Given the description of an element on the screen output the (x, y) to click on. 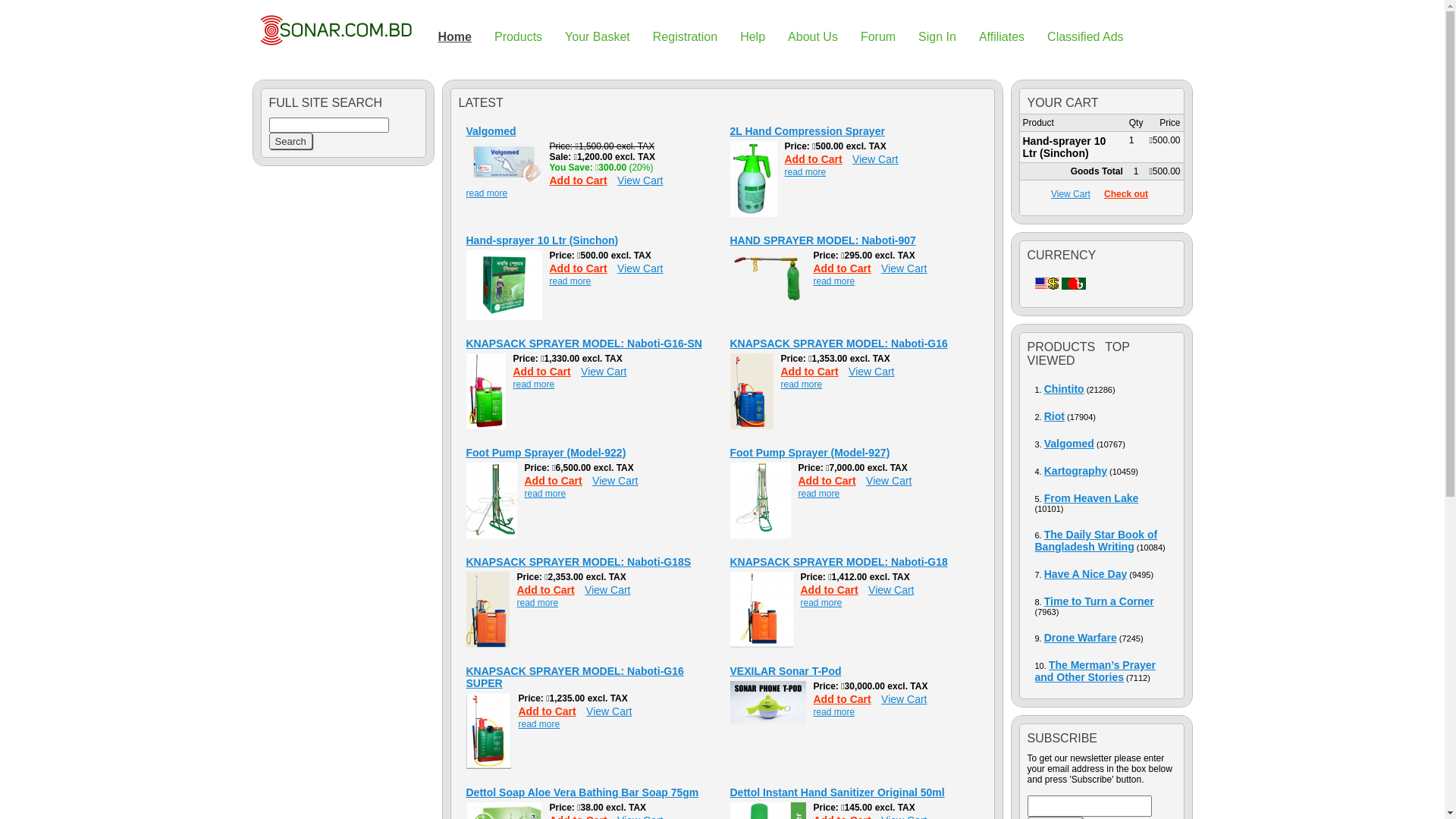
Time to Turn a Corner Element type: text (1099, 601)
View Cart Element type: text (907, 699)
read more Element type: text (573, 281)
Add to Cart Element type: text (829, 480)
read more Element type: text (541, 602)
Kartography Element type: text (1075, 470)
View Cart Element type: text (643, 180)
KNAPSACK SPRAYER MODEL: Naboti-G18 Element type: text (838, 561)
Bangladeshi Taka Element type: hover (1073, 283)
Dettol Instant Hand Sanitizer Original 50ml Element type: text (836, 792)
View Cart Element type: text (894, 589)
Drone Warfare Element type: text (1080, 637)
read more Element type: text (536, 384)
Hand-sprayer 10 Ltr (Sinchon) Element type: text (541, 240)
Sign In Element type: text (936, 37)
View Cart Element type: text (907, 268)
View Cart Element type: text (618, 480)
Add to Cart Element type: text (833, 589)
read more Element type: text (808, 171)
Have A Nice Day Element type: text (1085, 573)
View Cart Element type: text (612, 711)
read more Element type: text (489, 193)
Home Page Element type: hover (335, 30)
Valgomed Element type: text (1069, 443)
Foot Pump Sprayer (Model-922) Element type: text (545, 452)
View Cart Element type: text (874, 371)
read more Element type: text (825, 602)
Add to Cart Element type: text (544, 371)
read more Element type: text (542, 723)
American Dollar Element type: hover (1046, 283)
KNAPSACK SPRAYER MODEL: 616 SUPER Element type: hover (487, 765)
Add to Cart Element type: text (845, 268)
read more Element type: text (549, 493)
Add to Cart Element type: text (556, 480)
Foot Pump Sprayer (Model-927) Element type: text (809, 452)
Dettol Soap Aloe Vera Bathing Bar Soap 75gm Element type: text (581, 792)
View Cart Element type: text (1070, 193)
View Cart Element type: text (610, 589)
Riot Element type: text (1054, 416)
Add to Cart Element type: text (549, 589)
Help Element type: text (752, 37)
BUNIONS ARE NOW TREATABLE - VISIBLE RESULTS IN JUST A MONTH Element type: hover (503, 180)
read more Element type: text (837, 711)
Valgomed Element type: text (490, 131)
KNAPSACK SPRAYER MODEL: Naboti-G16-SN Element type: text (583, 343)
The Daily Star Book of Bangladesh Writing Element type: text (1095, 540)
Chintito Element type: text (1064, 388)
View Cart Element type: text (606, 371)
Your Basket Element type: text (597, 37)
read more Element type: text (805, 384)
About Us Element type: text (812, 37)
From Heaven Lake Element type: text (1091, 498)
View Cart Element type: text (892, 480)
Add to Cart Element type: text (581, 180)
Check out Element type: text (1125, 193)
Search Element type: text (289, 140)
Products Element type: text (518, 37)
Forum Element type: text (877, 37)
View Cart Element type: text (643, 268)
KNAPSACK SPRAYER MODEL: Naboti-G16 Element type: text (838, 343)
HAND SPRAYER MODEL: Naboti-907 Element type: text (822, 240)
VEXILAR Sonar T-Pod Element type: text (784, 671)
HAND SPRAYER MODEL: Naboti-907  Element type: hover (767, 299)
Add to Cart Element type: text (550, 711)
Home Element type: text (454, 37)
Add to Cart Element type: text (813, 371)
2L Hand Compression Sprayer Element type: text (806, 131)
Add to Cart Element type: text (581, 268)
KNAPSACK SPRAYER MODEL: Naboti-G16 Element type: hover (485, 425)
read more Element type: text (822, 493)
KNAPSACK SPRAYER MODEL: Naboti-G18S Element type: text (577, 561)
KNAPSACK SPRAYER MODEL: Naboti-G16 SUPER Element type: text (574, 677)
Classified Ads Element type: text (1085, 37)
Affiliates Element type: text (1001, 37)
Add to Cart Element type: text (816, 159)
KNAPSACK SPRAYER MODEL: Naboti-G16 Element type: hover (750, 425)
Add to Cart Element type: text (845, 699)
SONARPHONE W/TRANSDUCER POD Element type: hover (767, 720)
read more Element type: text (837, 281)
Registration Element type: text (684, 37)
View Cart Element type: text (878, 159)
